Given the description of an element on the screen output the (x, y) to click on. 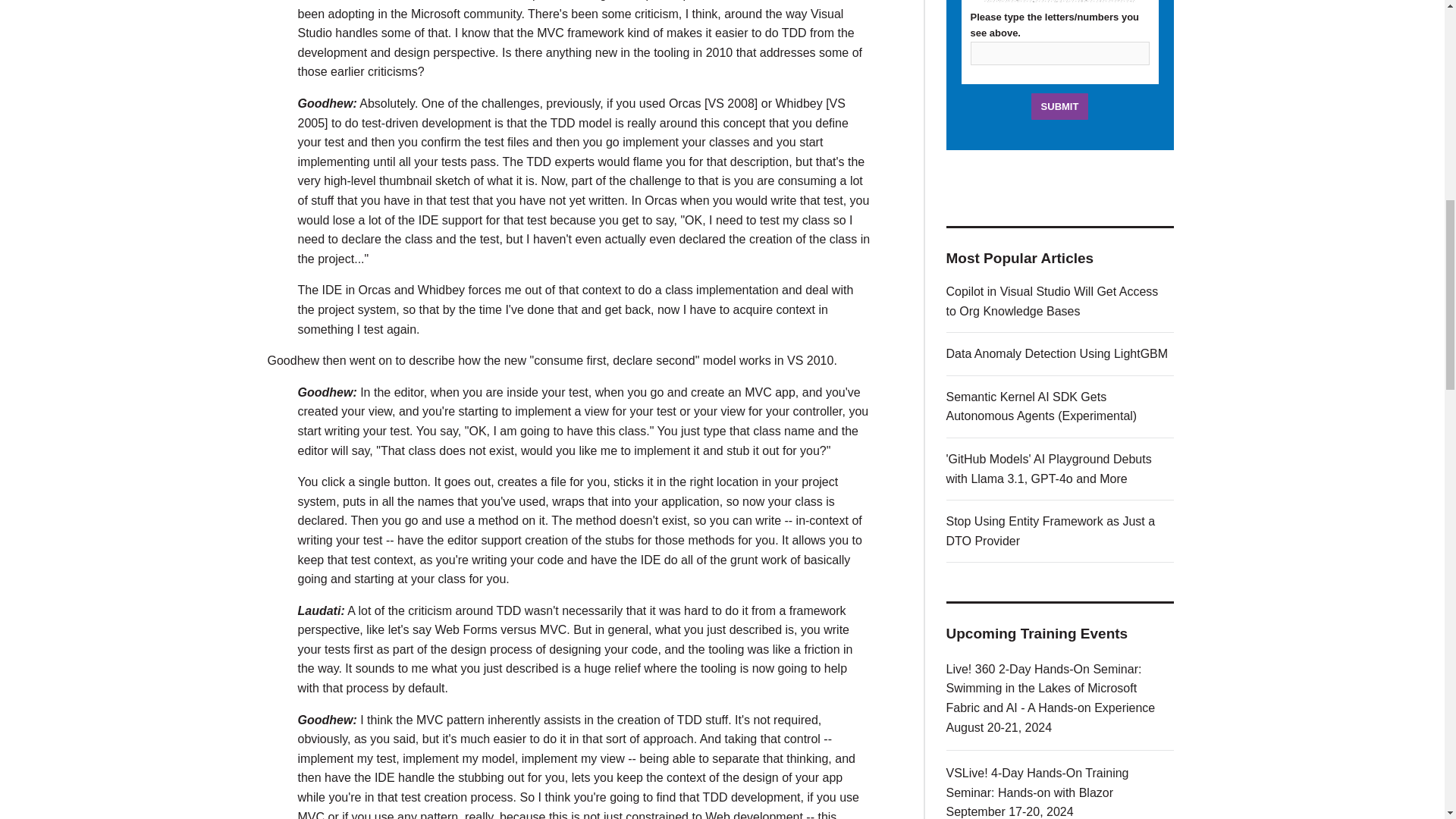
Submit (1059, 106)
